Given the description of an element on the screen output the (x, y) to click on. 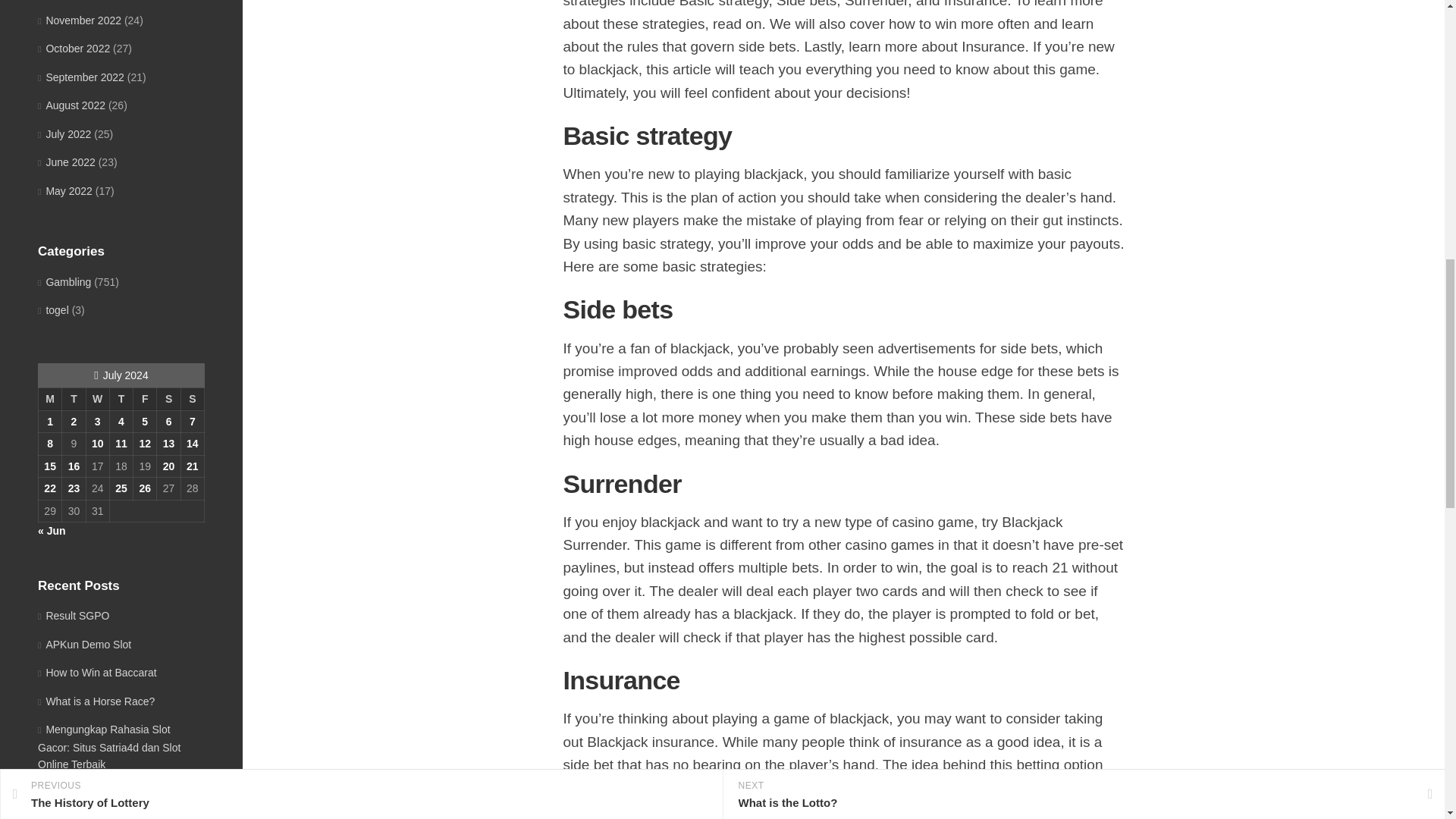
Sunday (191, 399)
Tuesday (73, 399)
Thursday (120, 399)
Wednesday (97, 399)
September 2022 (80, 77)
November 2022 (78, 19)
October 2022 (73, 48)
Saturday (168, 399)
Monday (49, 399)
August 2022 (70, 105)
Friday (145, 399)
